Given the description of an element on the screen output the (x, y) to click on. 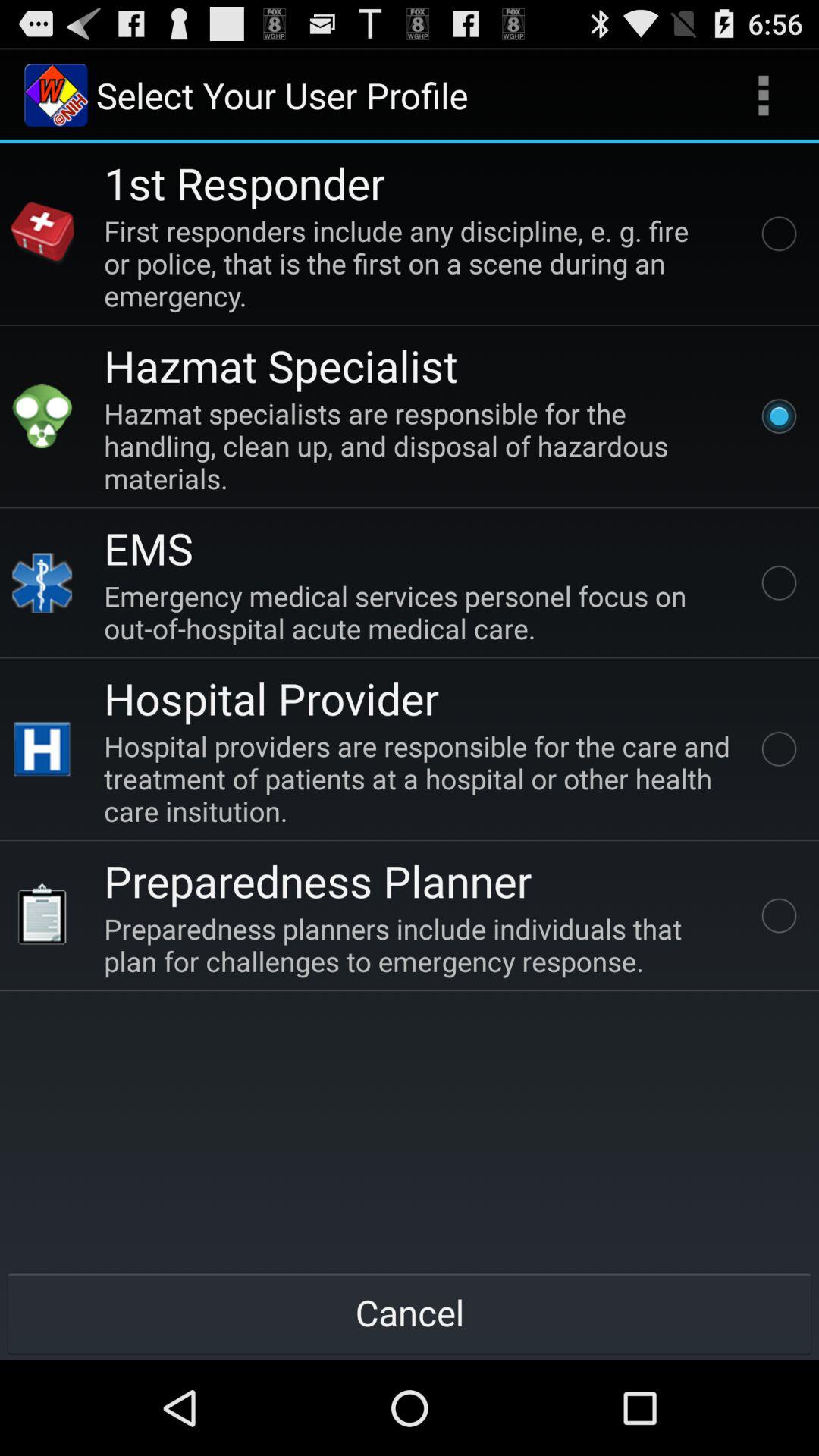
swipe to the preparedness planners include (420, 944)
